Given the description of an element on the screen output the (x, y) to click on. 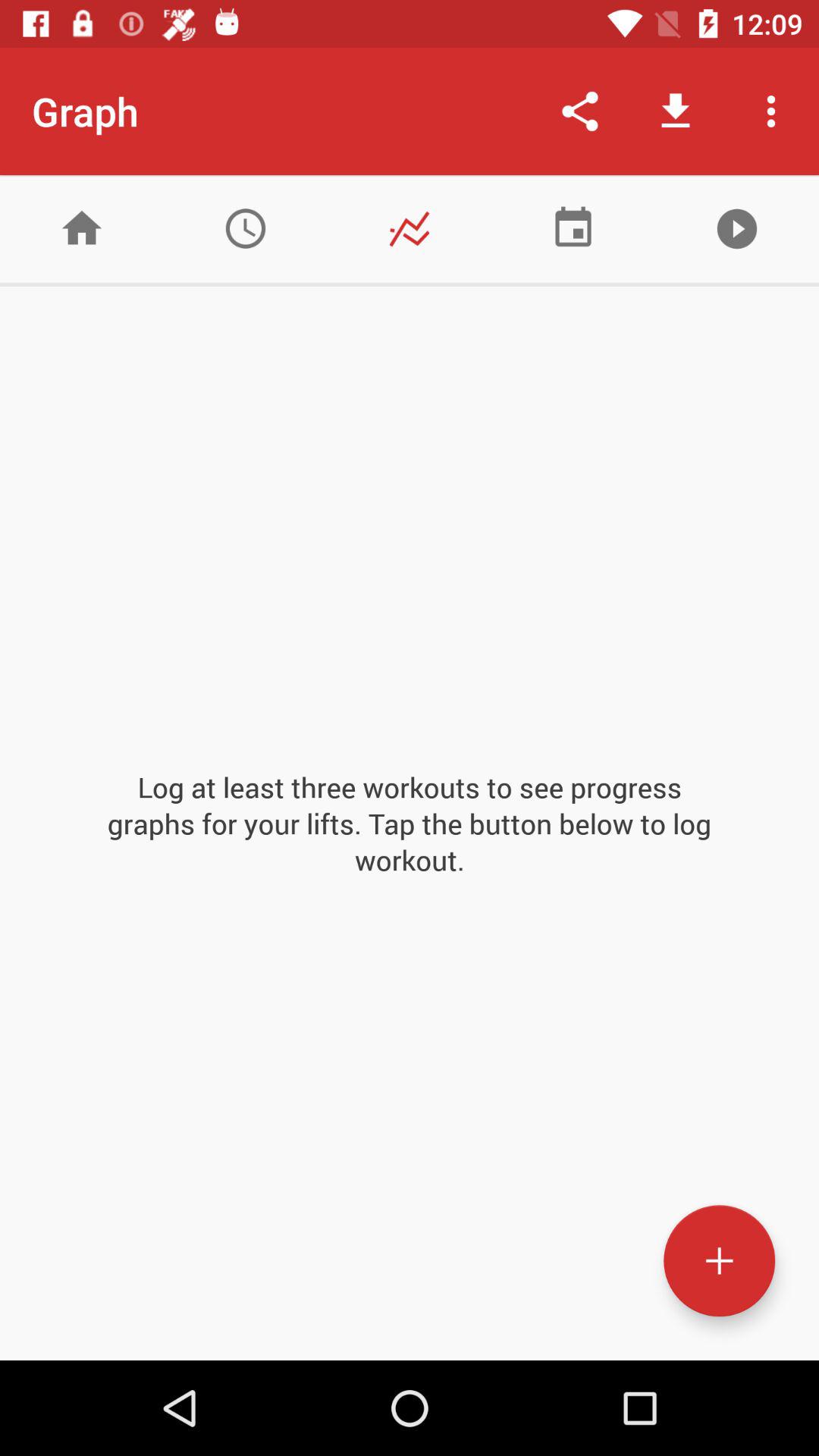
switch graphs option (409, 228)
